Given the description of an element on the screen output the (x, y) to click on. 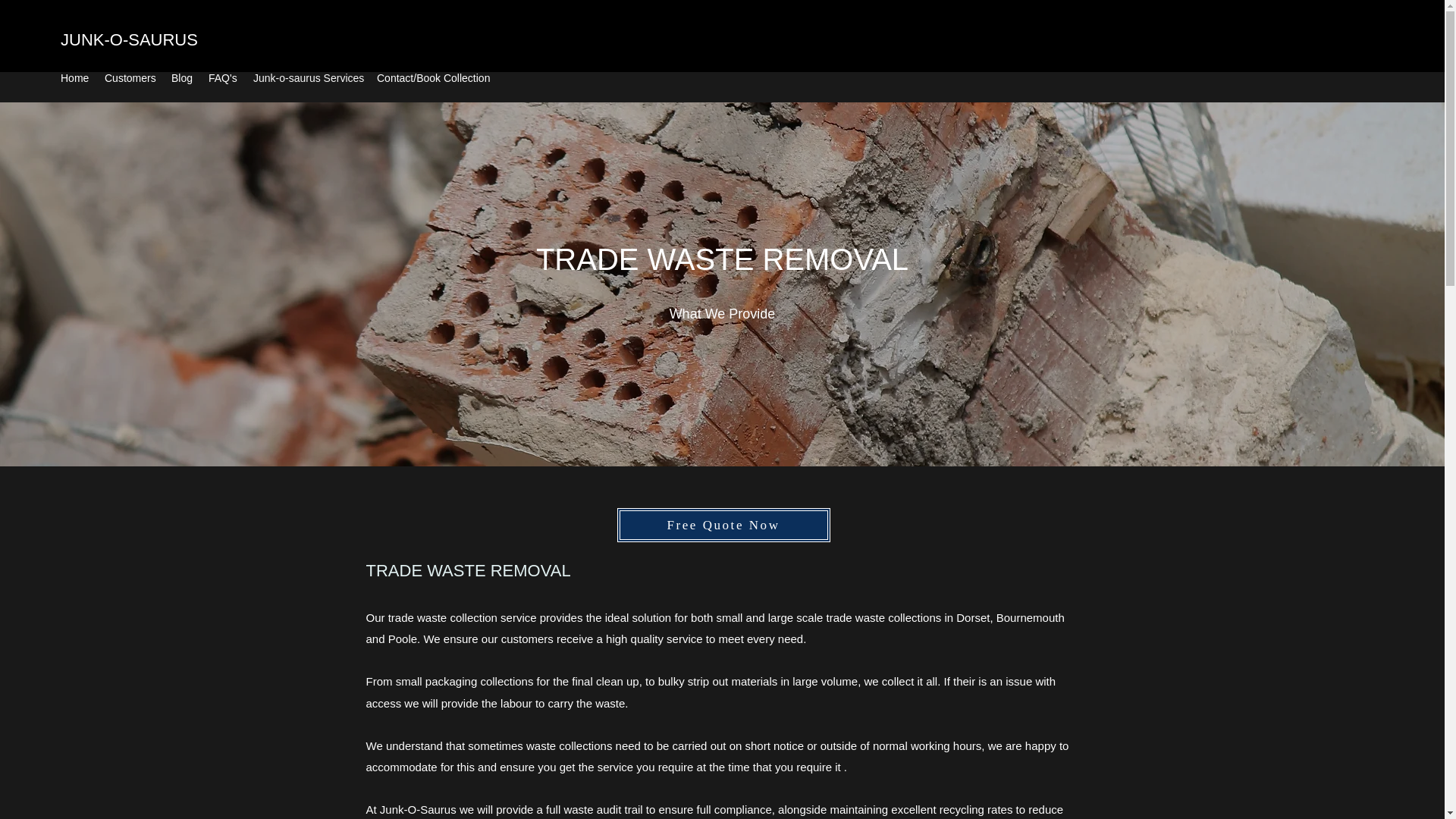
Junk-o-saurus Services (307, 78)
Free Quote Now (723, 524)
Home (74, 78)
Blog (181, 78)
JUNK-O-SAURUS (129, 39)
FAQ's (223, 78)
Customers (130, 78)
